Given the description of an element on the screen output the (x, y) to click on. 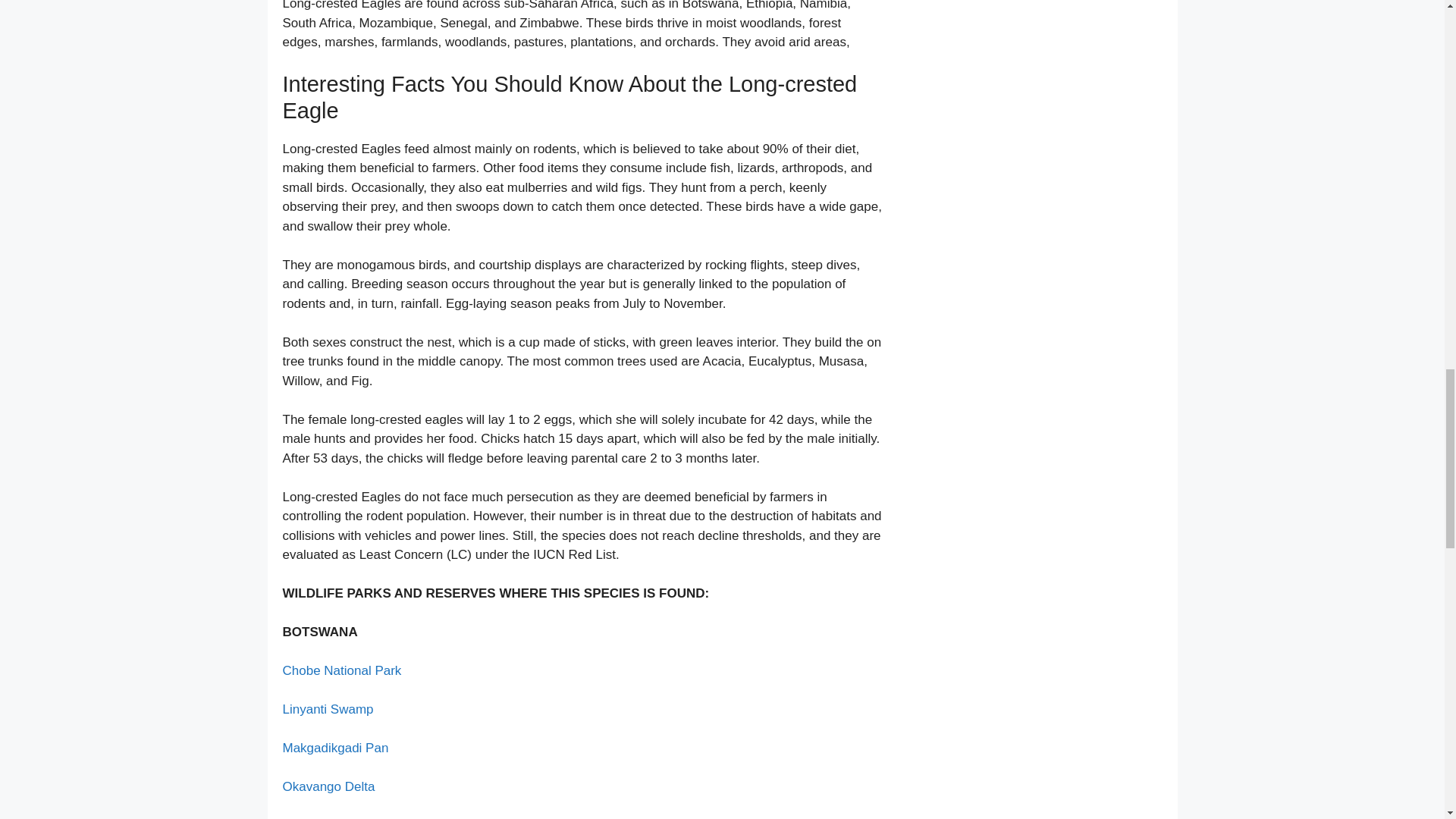
Linyanti Swamp (327, 708)
Makgadikgadi Pan (335, 748)
Chobe National Park (341, 670)
Okavango Delta (328, 786)
